Given the description of an element on the screen output the (x, y) to click on. 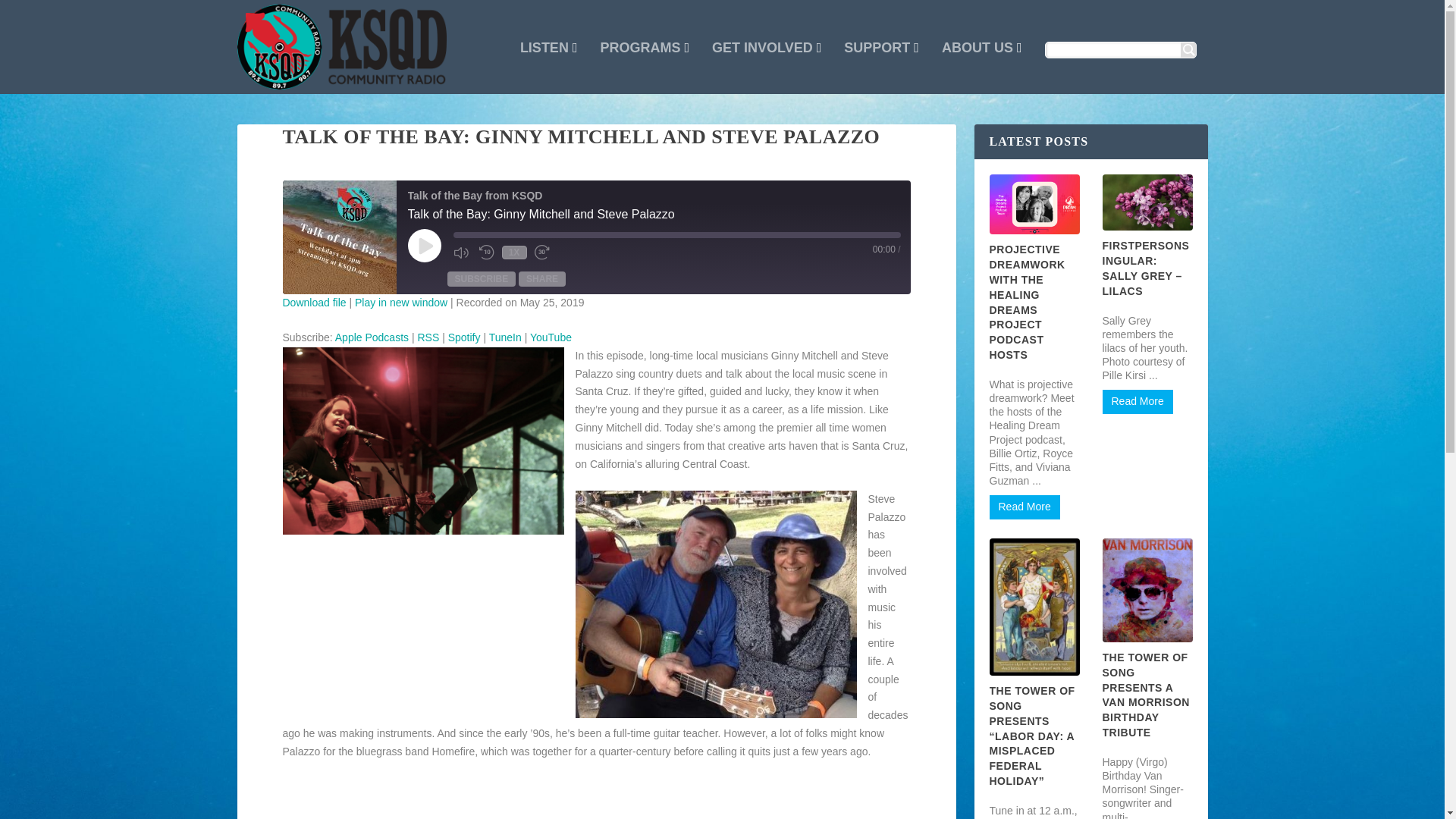
Rewind 10 seconds (487, 252)
Playback Speed (514, 252)
Fast Forward 30 seconds (542, 252)
Subscribe (481, 278)
Seek (676, 234)
LISTEN (548, 67)
Talk of the Bay from KSQD (339, 237)
GET INVOLVED (766, 67)
ABOUT US (982, 67)
Share (542, 278)
